Given the description of an element on the screen output the (x, y) to click on. 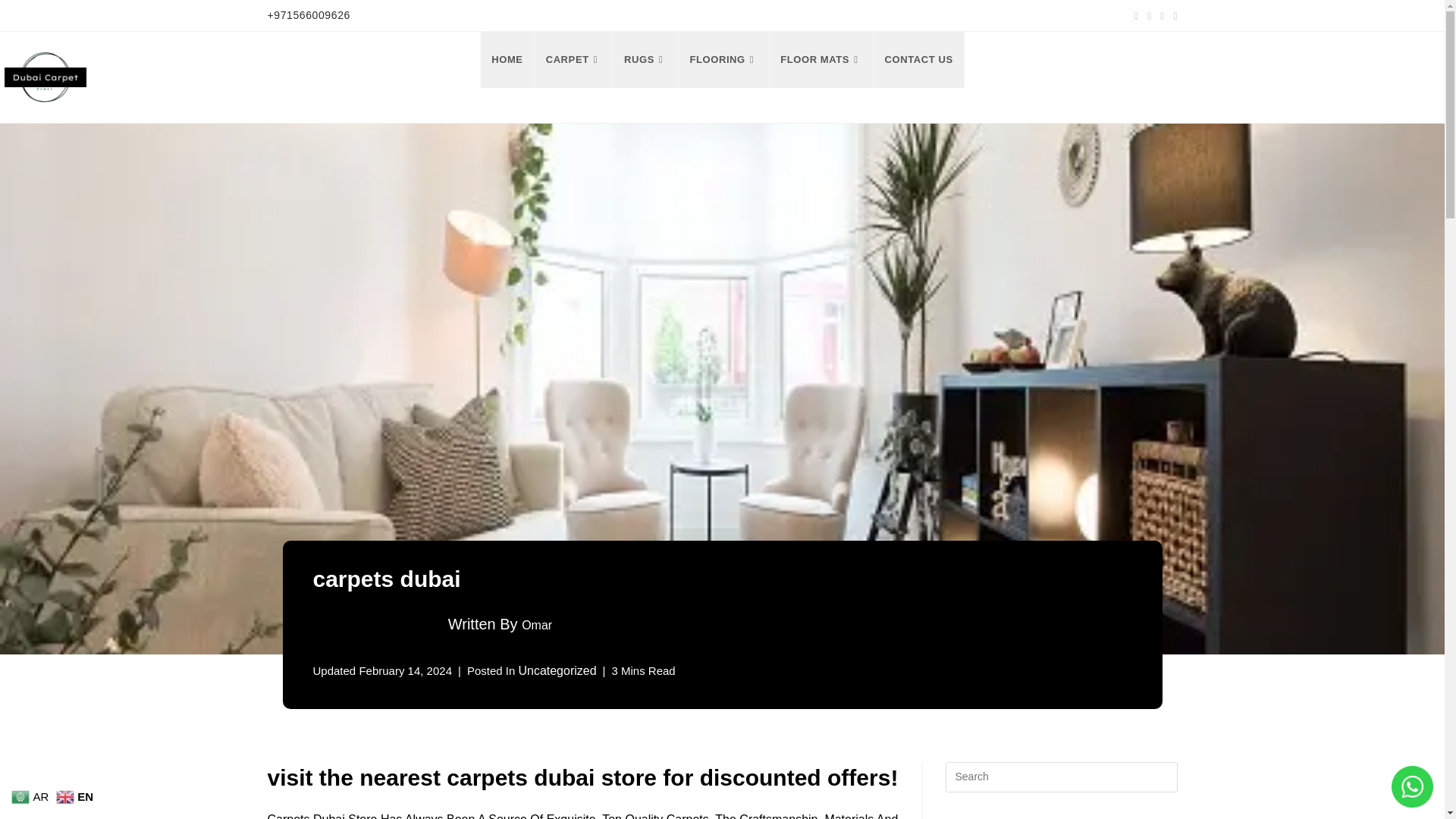
English (76, 795)
FLOORING (723, 59)
HOME (507, 59)
Arabic (31, 795)
CARPET (573, 59)
RUGS (645, 59)
